Given the description of an element on the screen output the (x, y) to click on. 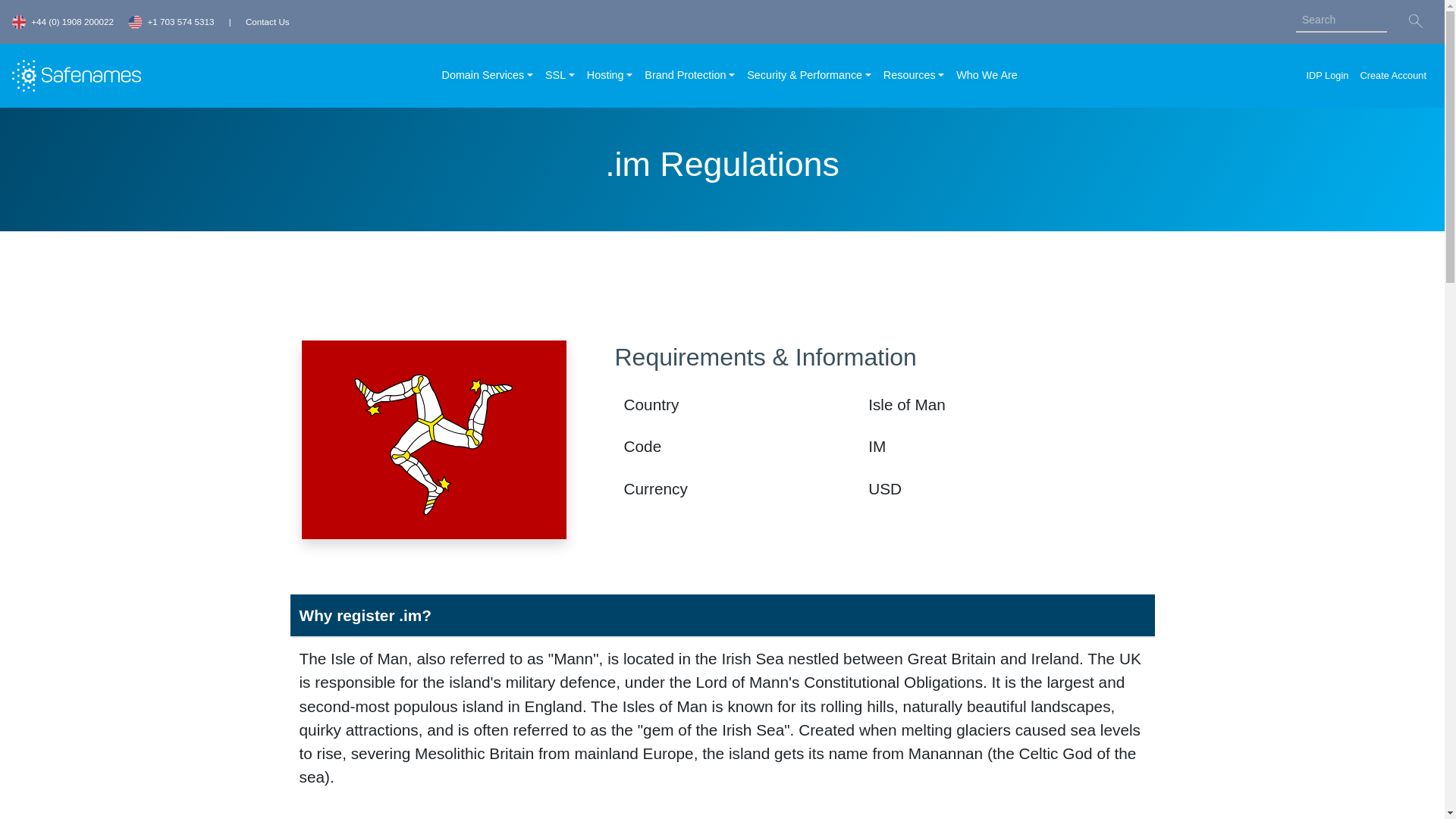
Domain Services (486, 75)
Hosting (609, 75)
Search input (1341, 20)
Contact Us (267, 21)
SSL (559, 75)
